Given the description of an element on the screen output the (x, y) to click on. 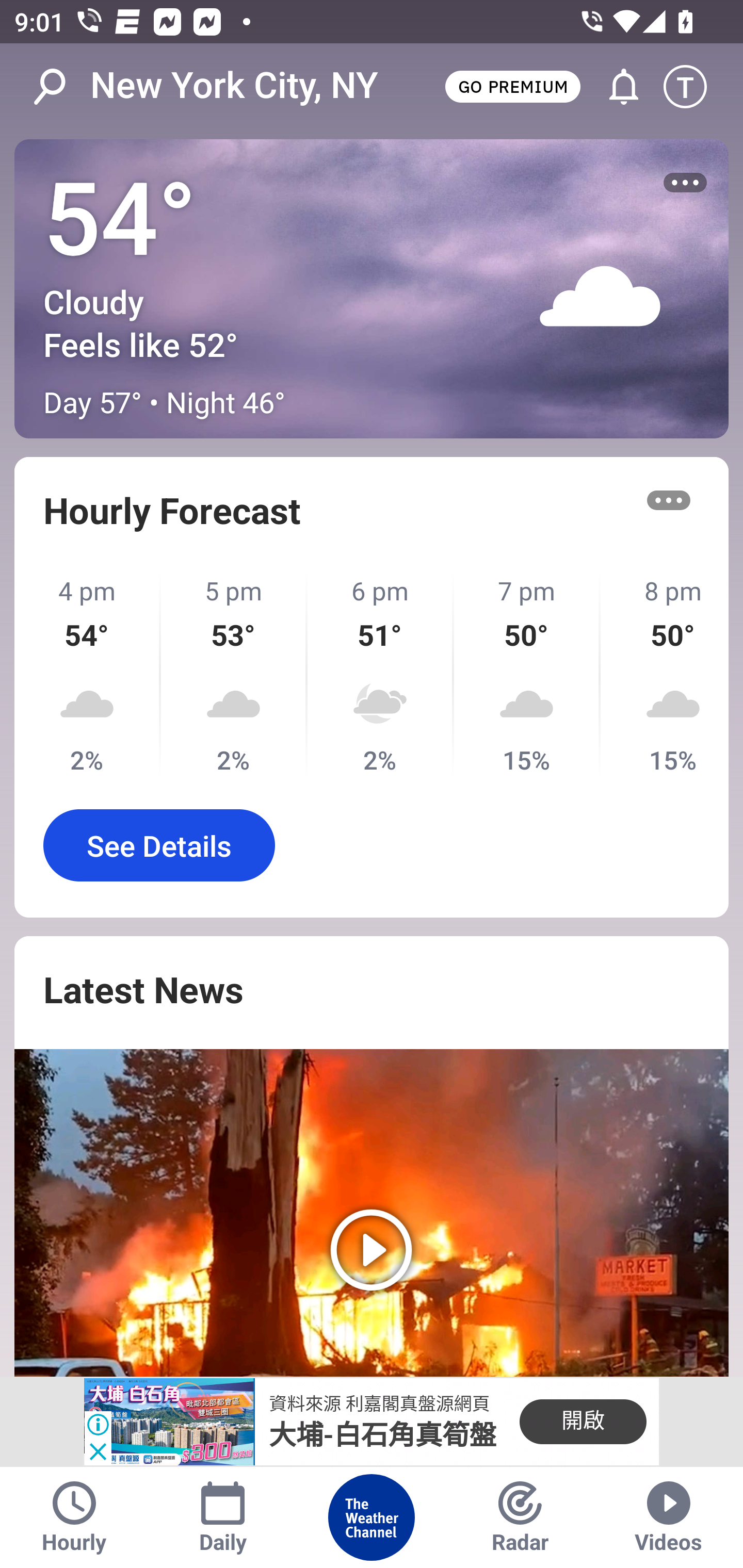
Search (59, 86)
Go to Alerts and Notifications (614, 86)
Setting icon T (694, 86)
New York City, NY (234, 85)
GO PREMIUM (512, 85)
More options (684, 182)
More options (668, 500)
4 pm 54° 2% (87, 674)
5 pm 53° 2% (234, 674)
6 pm 51° 2% (380, 674)
7 pm 50° 15% (526, 674)
8 pm 50° 15% (664, 674)
See Details (158, 845)
Play (371, 1212)
B30001746 (168, 1421)
資料來源 利嘉閣真盤源網頁 (379, 1403)
開啟 (582, 1421)
大埔-白石角真筍盤 (382, 1434)
Hourly Tab Hourly (74, 1517)
Daily Tab Daily (222, 1517)
Radar Tab Radar (519, 1517)
Videos Tab Videos (668, 1517)
